Given the description of an element on the screen output the (x, y) to click on. 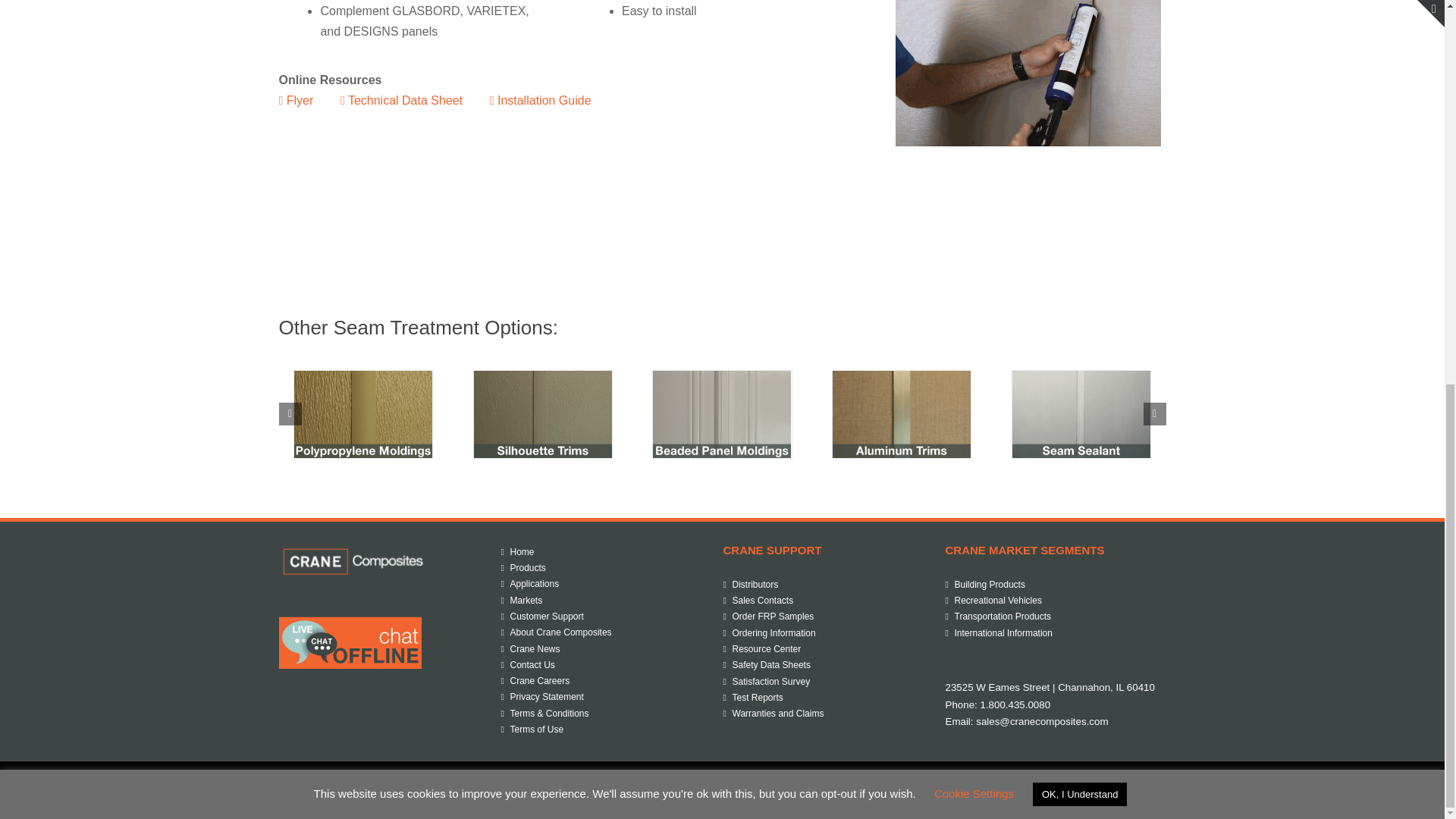
Accessories (1027, 73)
